Given the description of an element on the screen output the (x, y) to click on. 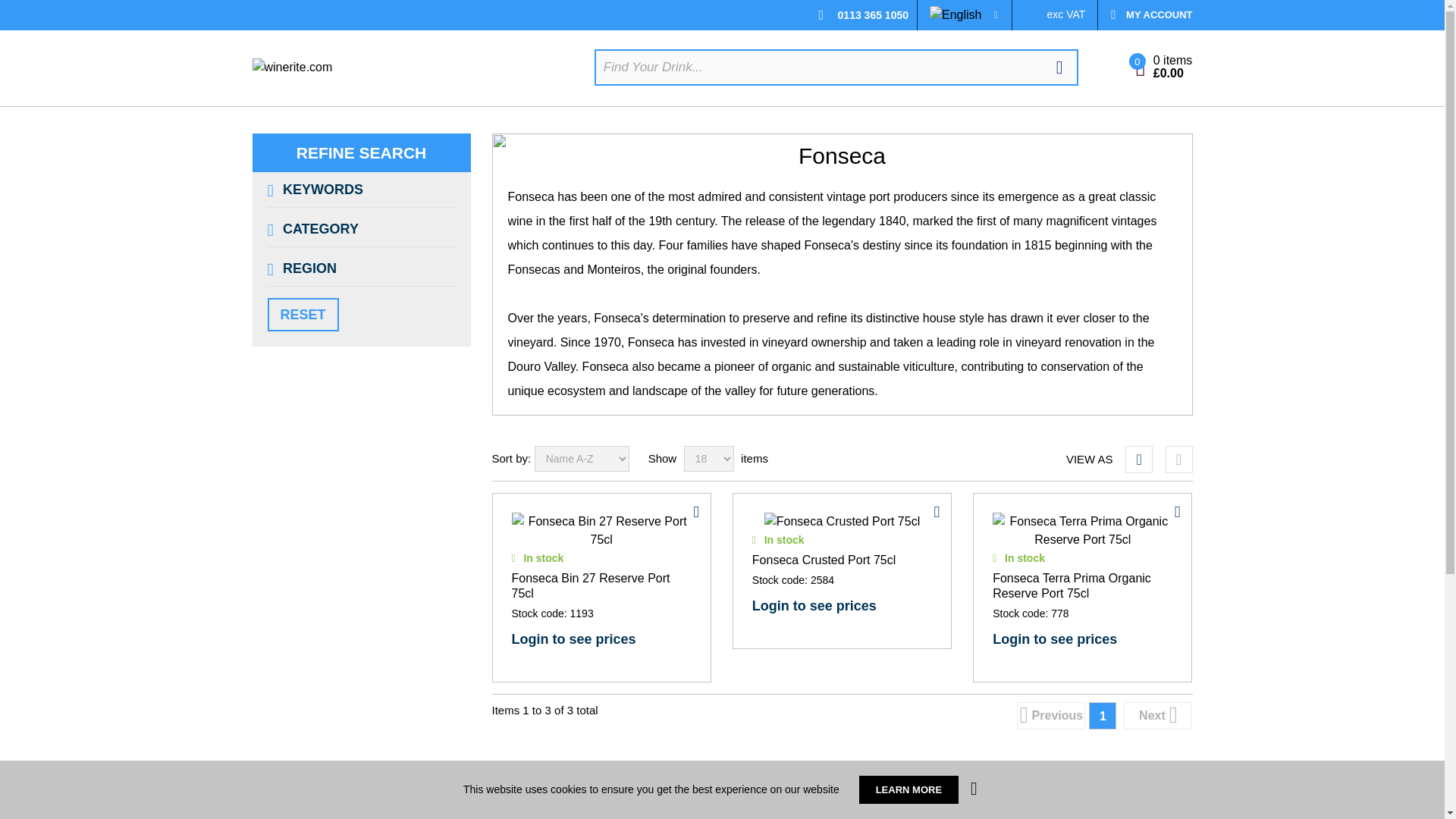
Fonseca Bin 27 Reserve Port 75cl (600, 530)
Fonseca Crusted Port 75cl (842, 521)
0113 365 1050 (873, 15)
Fonseca Terra Prima Organic Reserve Port 75cl (1082, 530)
MY ACCOUNT (1144, 15)
English (955, 14)
Reset (301, 314)
